Given the description of an element on the screen output the (x, y) to click on. 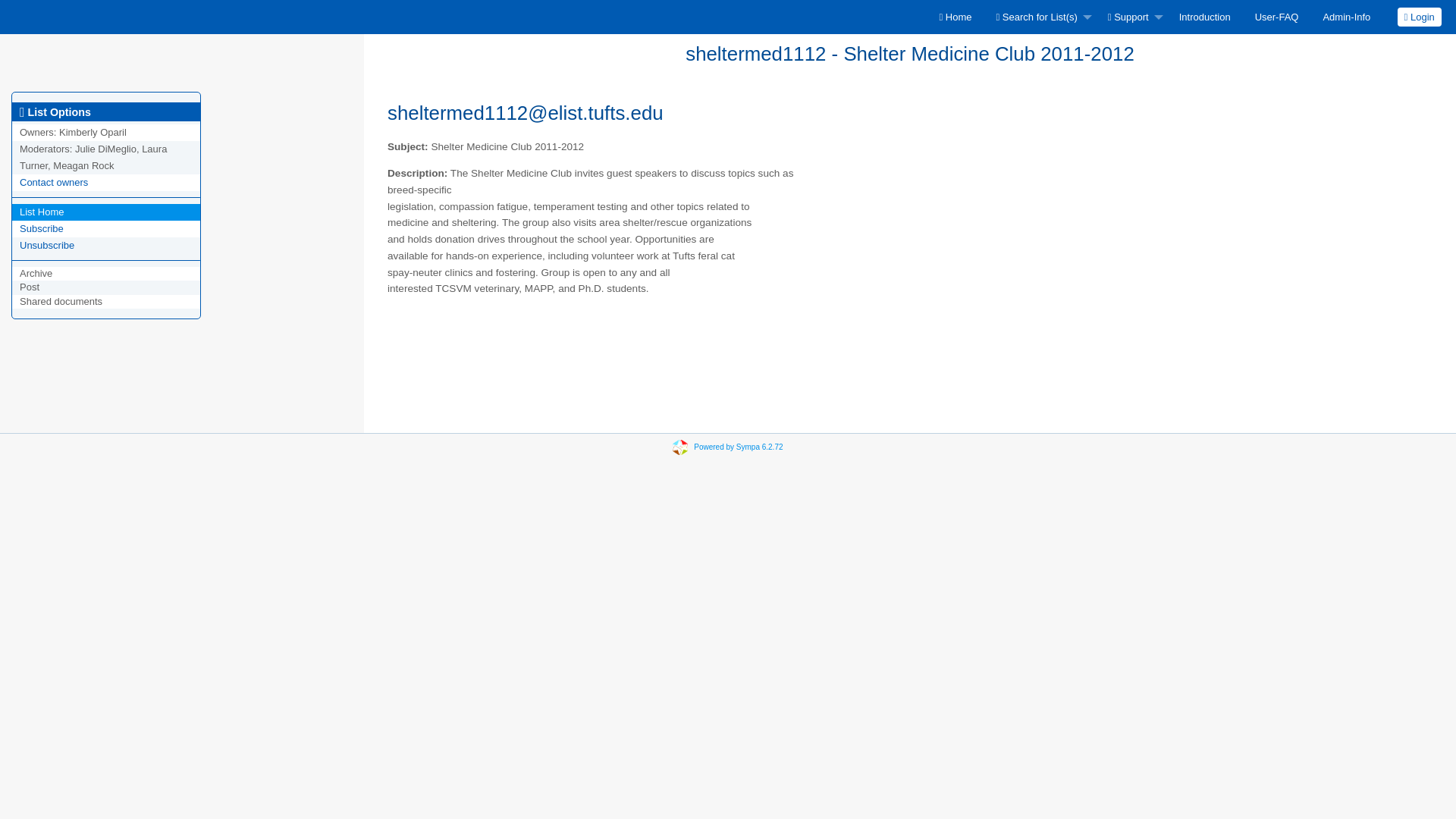
Unsubscribe (47, 244)
List Home (42, 211)
Contact owners (53, 182)
Home (955, 17)
Subscribe (42, 228)
Introduction (1205, 17)
Admin-Info (1345, 17)
Powered by Sympa 6.2.72 (738, 447)
Login (1419, 16)
User-FAQ (1277, 17)
